Given the description of an element on the screen output the (x, y) to click on. 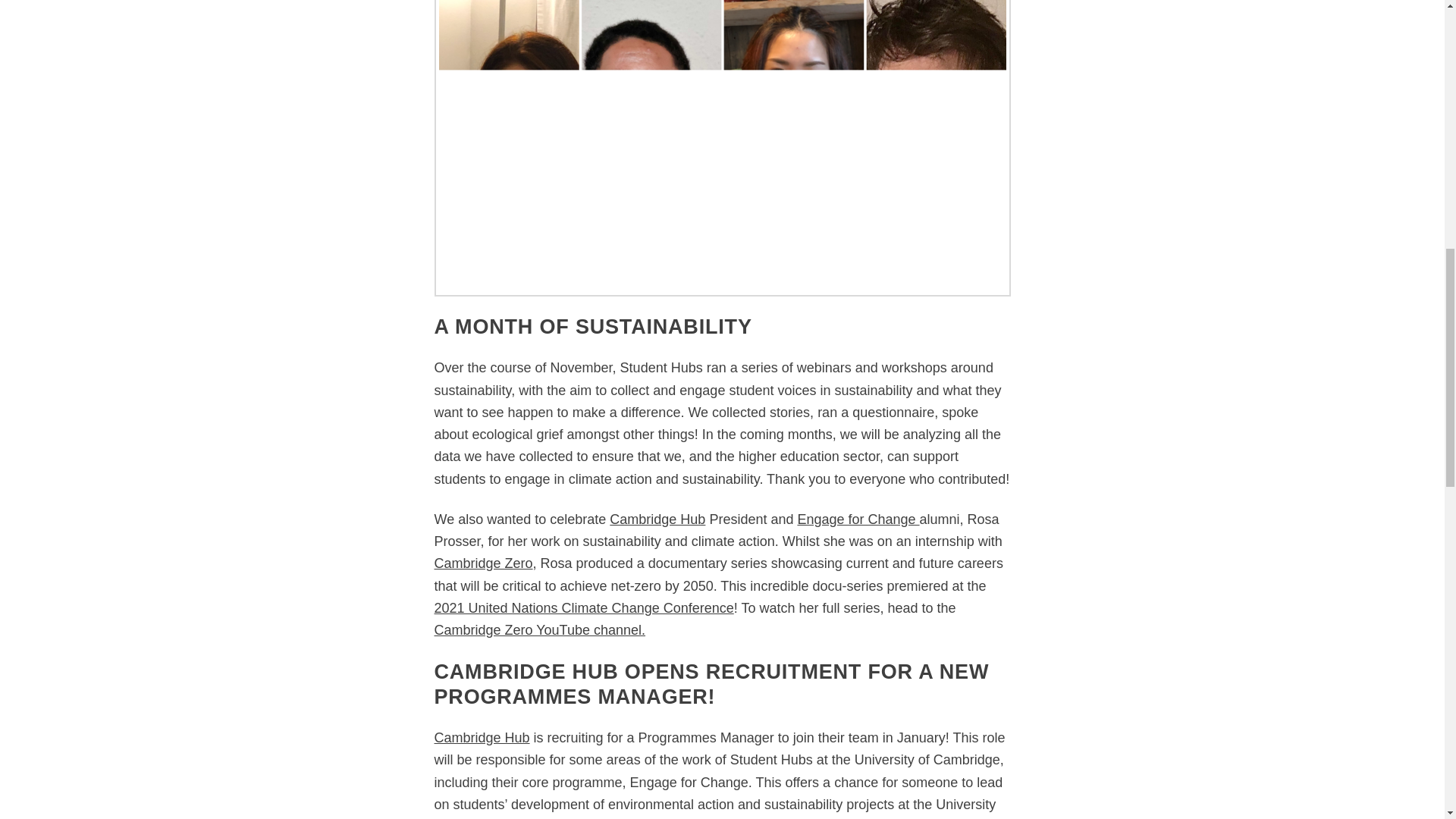
Cambridge Zero (482, 563)
Engage for Change (857, 519)
Cambridge Zero YouTube channel. (539, 630)
Cambridge Hub (481, 737)
Cambridge Hub (657, 519)
2021 United Nations Climate Change Conference (583, 607)
